Given the description of an element on the screen output the (x, y) to click on. 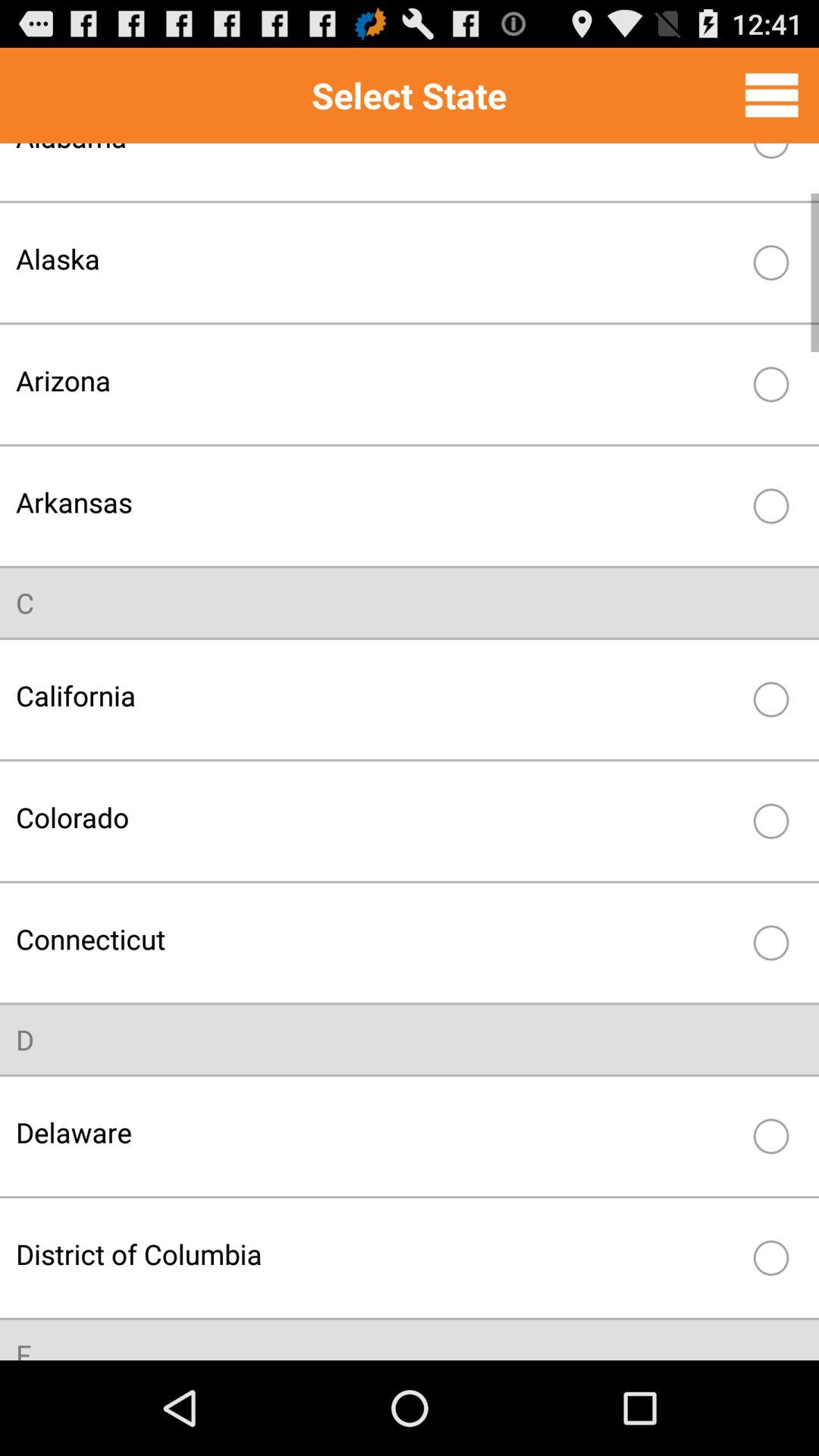
scroll until the california item (377, 695)
